Given the description of an element on the screen output the (x, y) to click on. 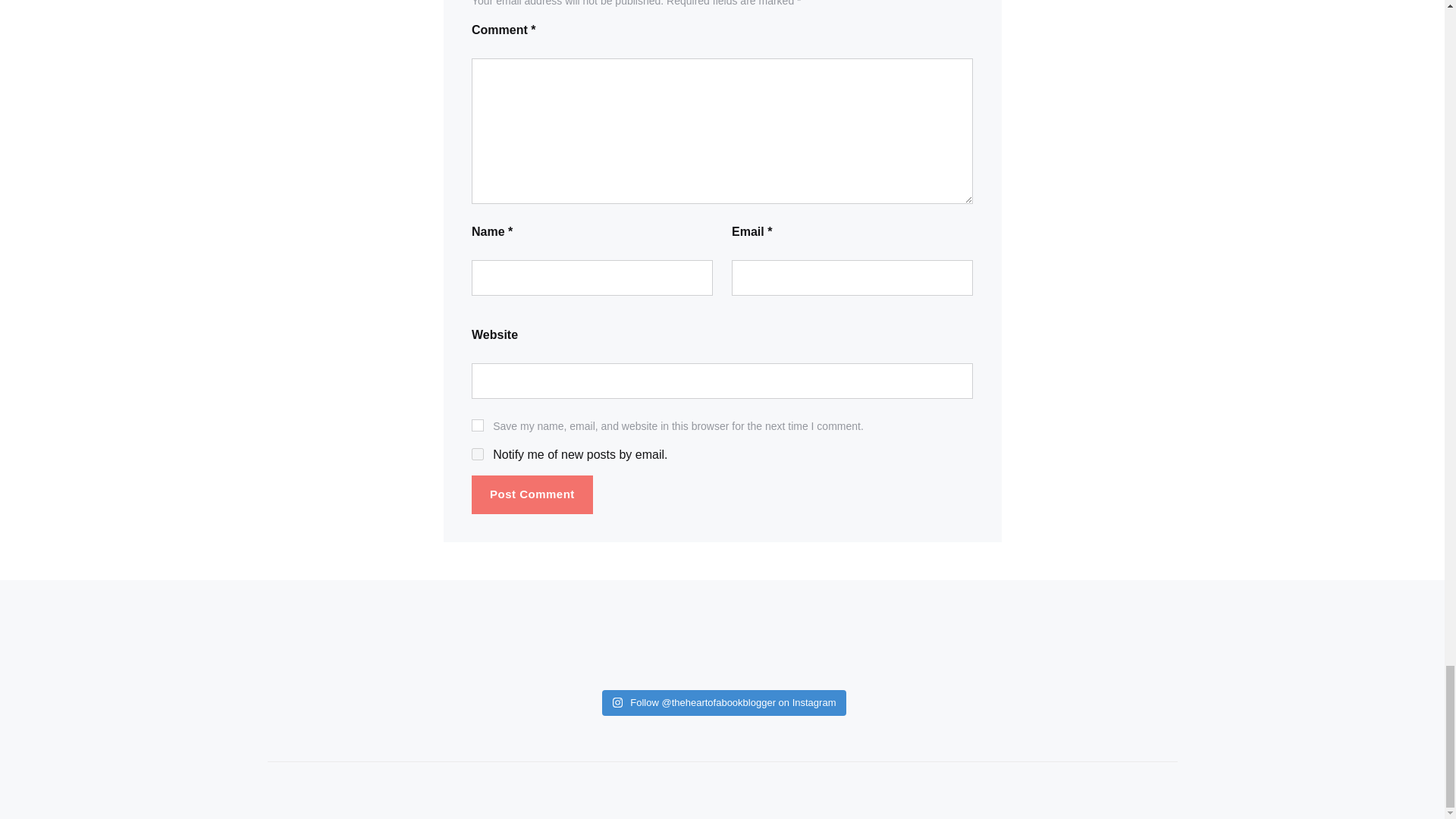
Post Comment (531, 494)
yes (477, 425)
subscribe (477, 453)
